Given the description of an element on the screen output the (x, y) to click on. 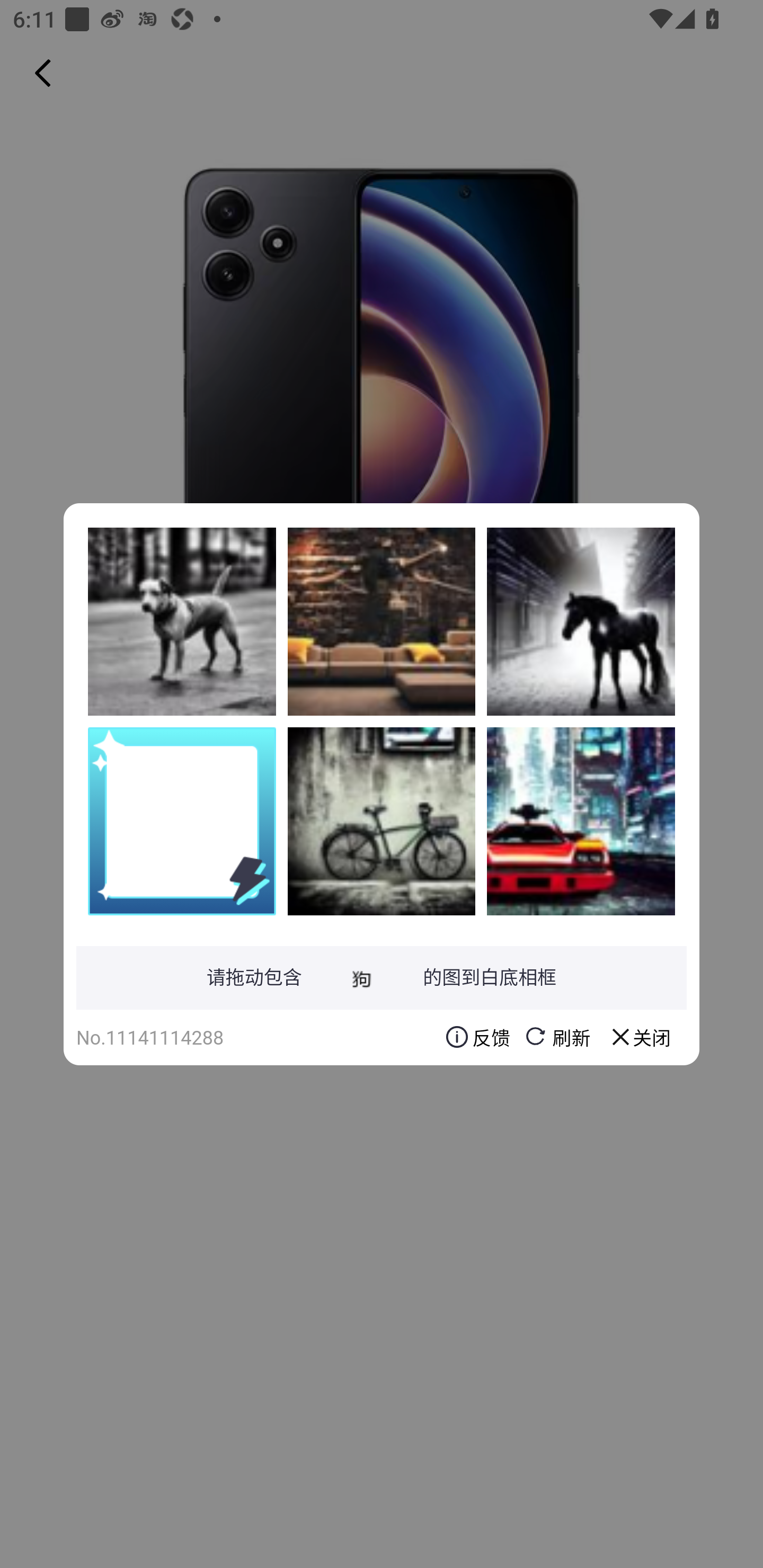
BSEUA5ZSYRW4ja2QMpSEPSom2oyxL21lScu (381, 621)
DTAfRLl3j55fOce7dowNLAFtvXR7d (580, 621)
4hRjN25m2vrNlL55xzDJykG9+pBfWE (580, 820)
